Given the description of an element on the screen output the (x, y) to click on. 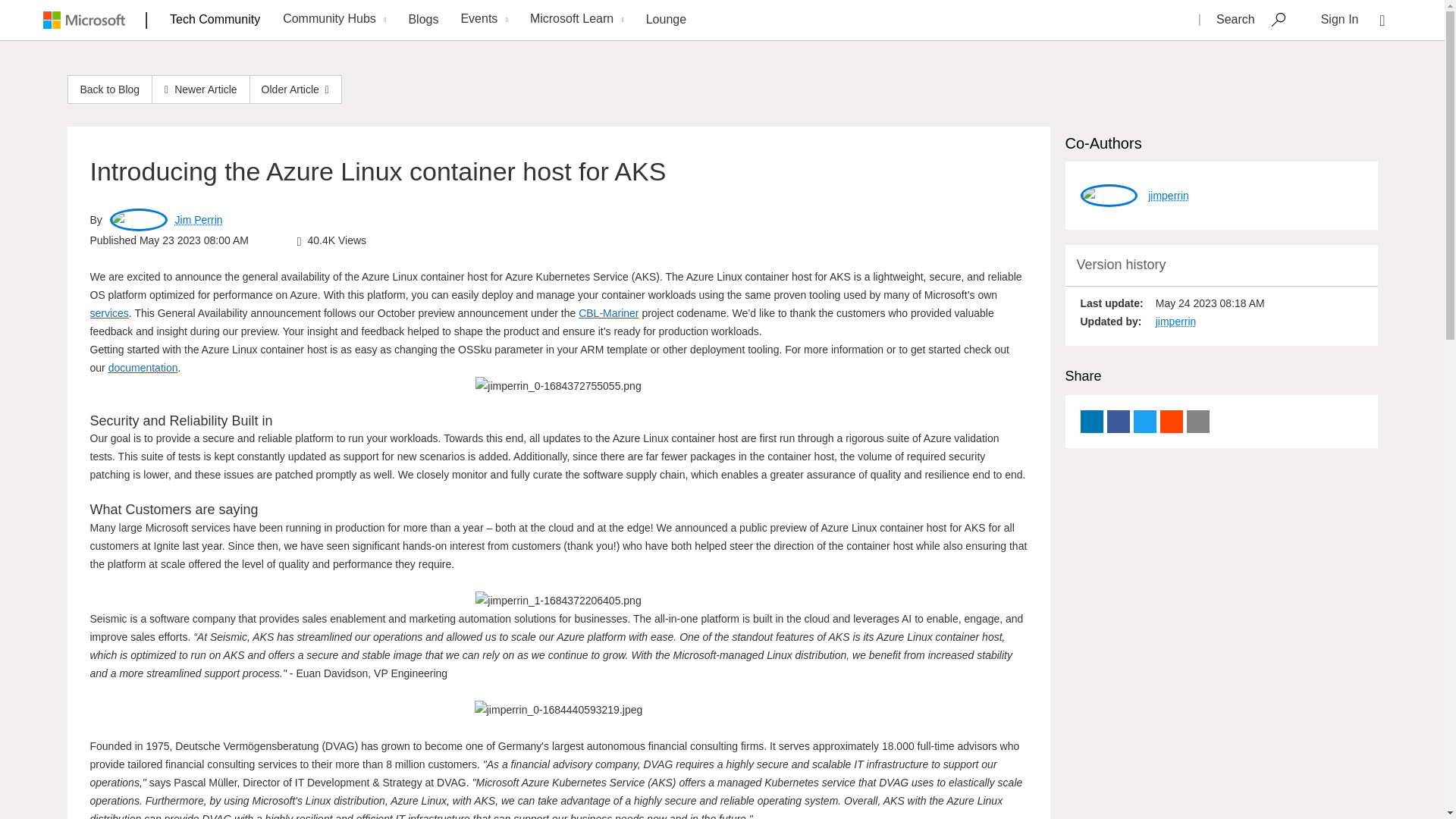
Tech Community (215, 18)
Community Hubs (332, 19)
